Given the description of an element on the screen output the (x, y) to click on. 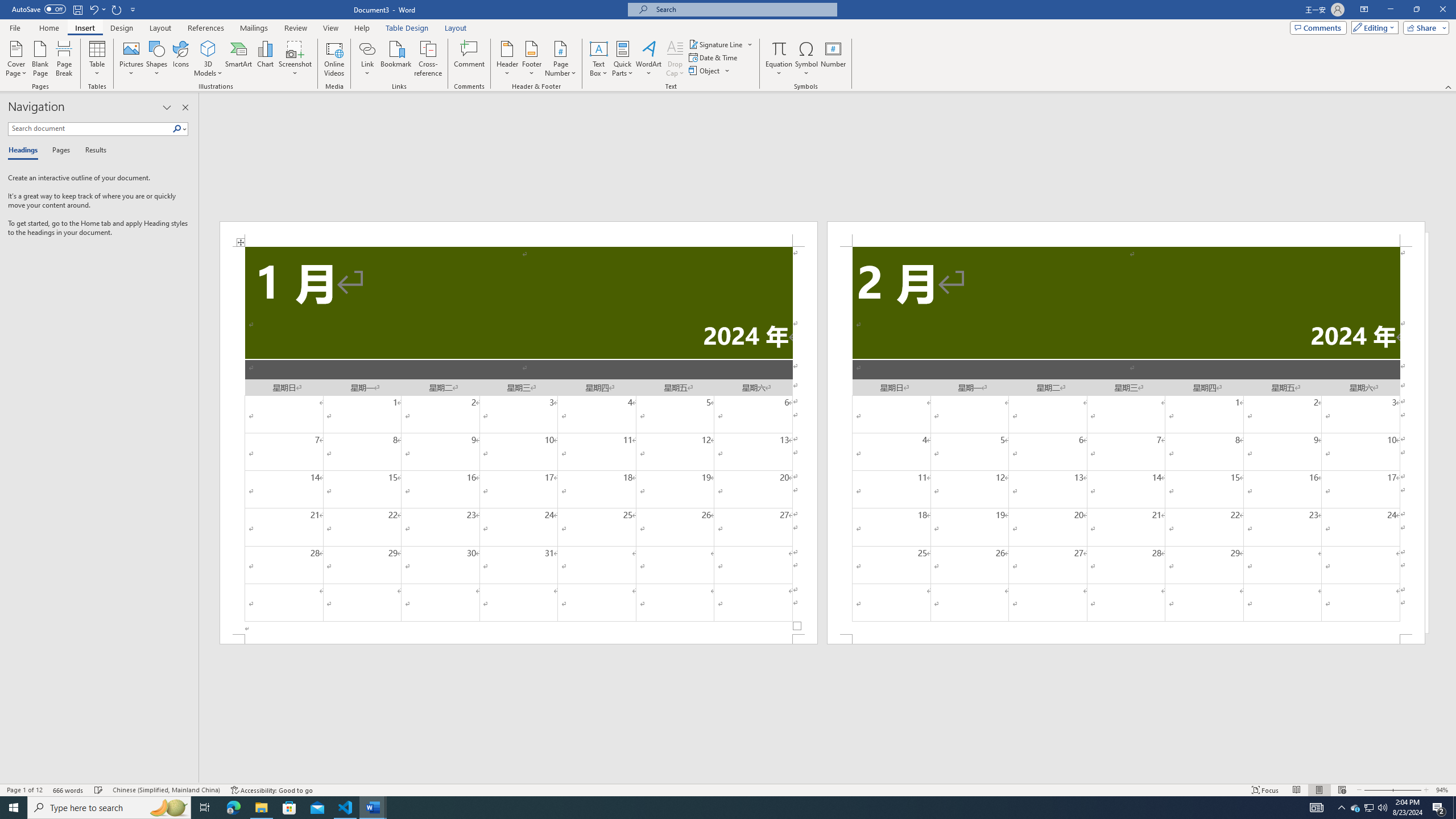
Table Design (407, 28)
WordArt (648, 58)
Spelling and Grammar Check Checking (98, 790)
Icons (180, 58)
Link (367, 48)
Symbol (806, 58)
Header (507, 58)
